Given the description of an element on the screen output the (x, y) to click on. 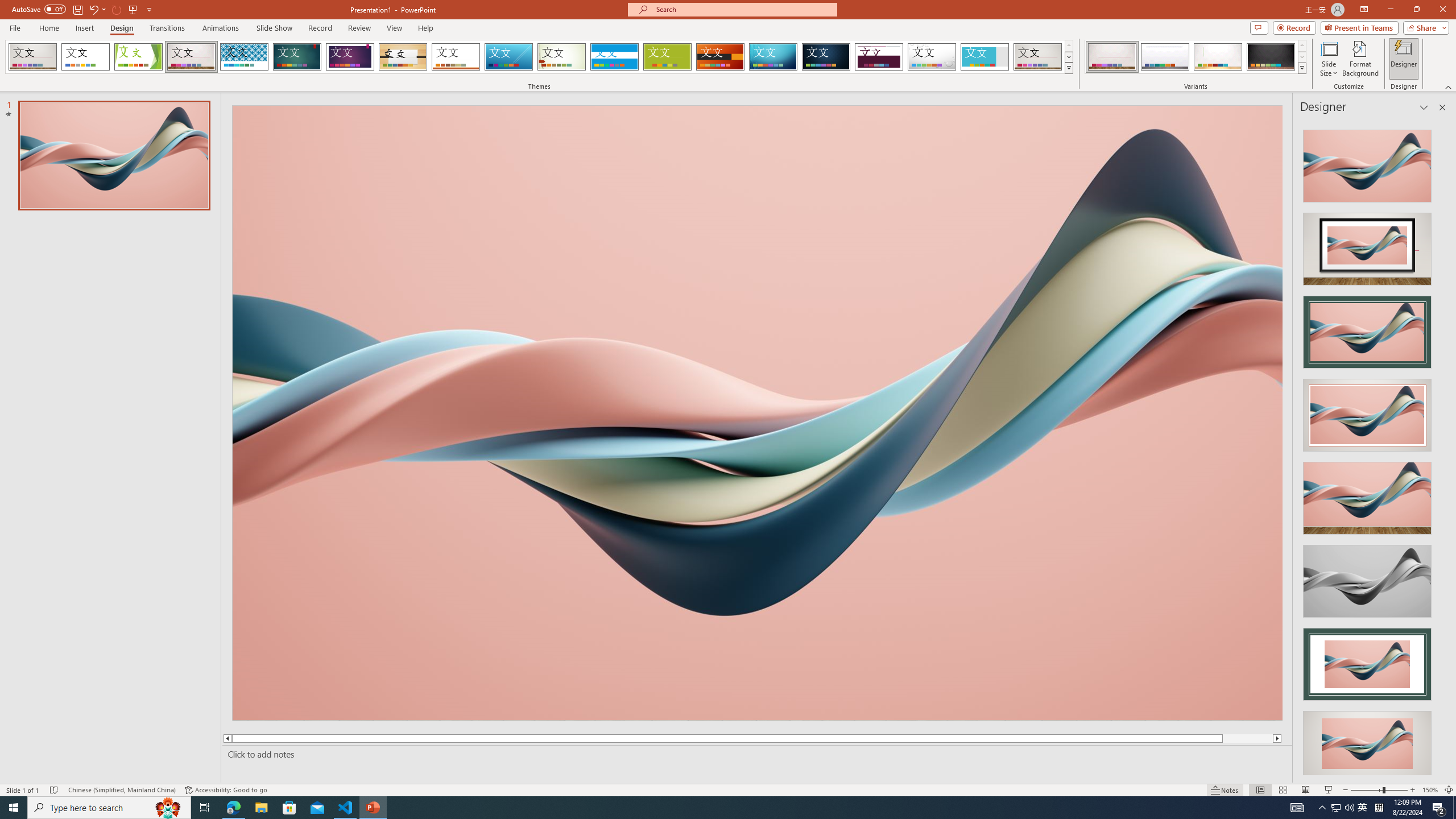
Gallery Variant 3 (1217, 56)
Format Background (1360, 58)
Zoom 150% (1430, 790)
Variants (1301, 67)
Integral (244, 56)
